Given the description of an element on the screen output the (x, y) to click on. 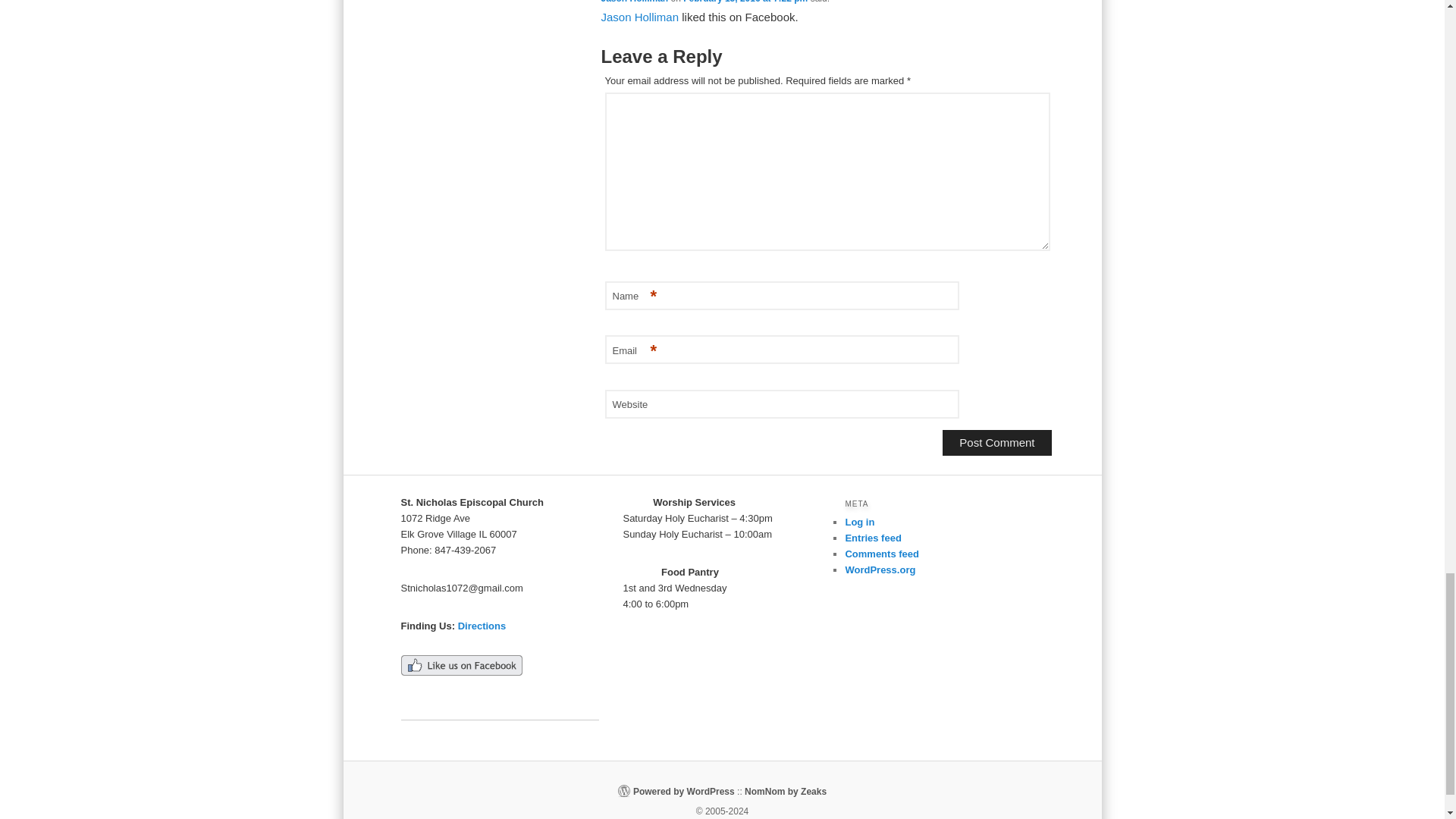
Post Comment (996, 442)
